Given the description of an element on the screen output the (x, y) to click on. 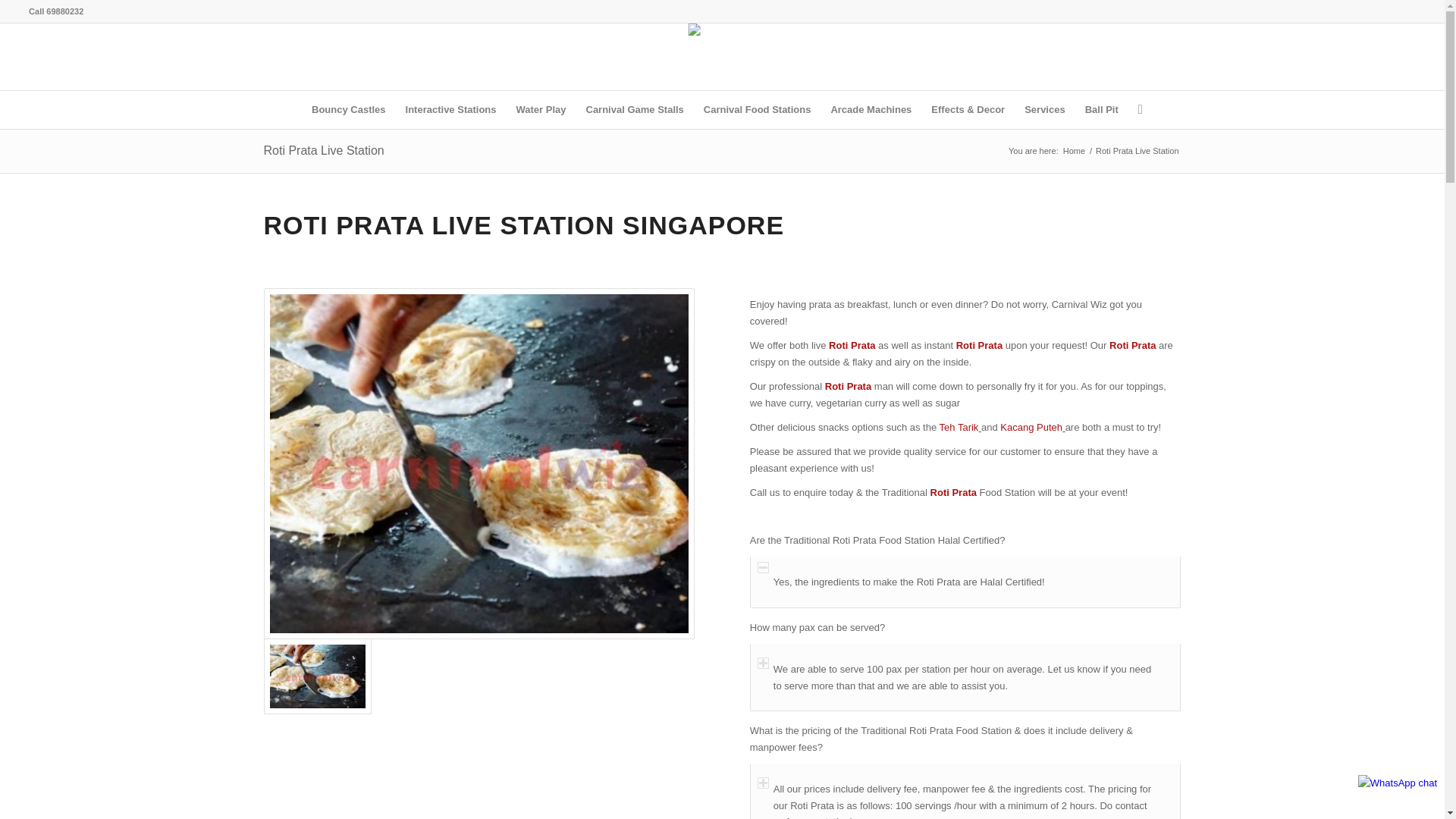
Carnival Food Stations (757, 109)
Carnival Wiz (1074, 151)
Water Play (541, 109)
Traditional Roti Prata Food Station in Singapore (317, 676)
69880232 (64, 10)
Carnival Game Stalls (635, 109)
Interactive Stations (451, 109)
Permanent Link: Roti Prata Live Station (323, 150)
Bouncy Castles (348, 109)
Services (1044, 109)
Arcade Machines (871, 109)
